Given the description of an element on the screen output the (x, y) to click on. 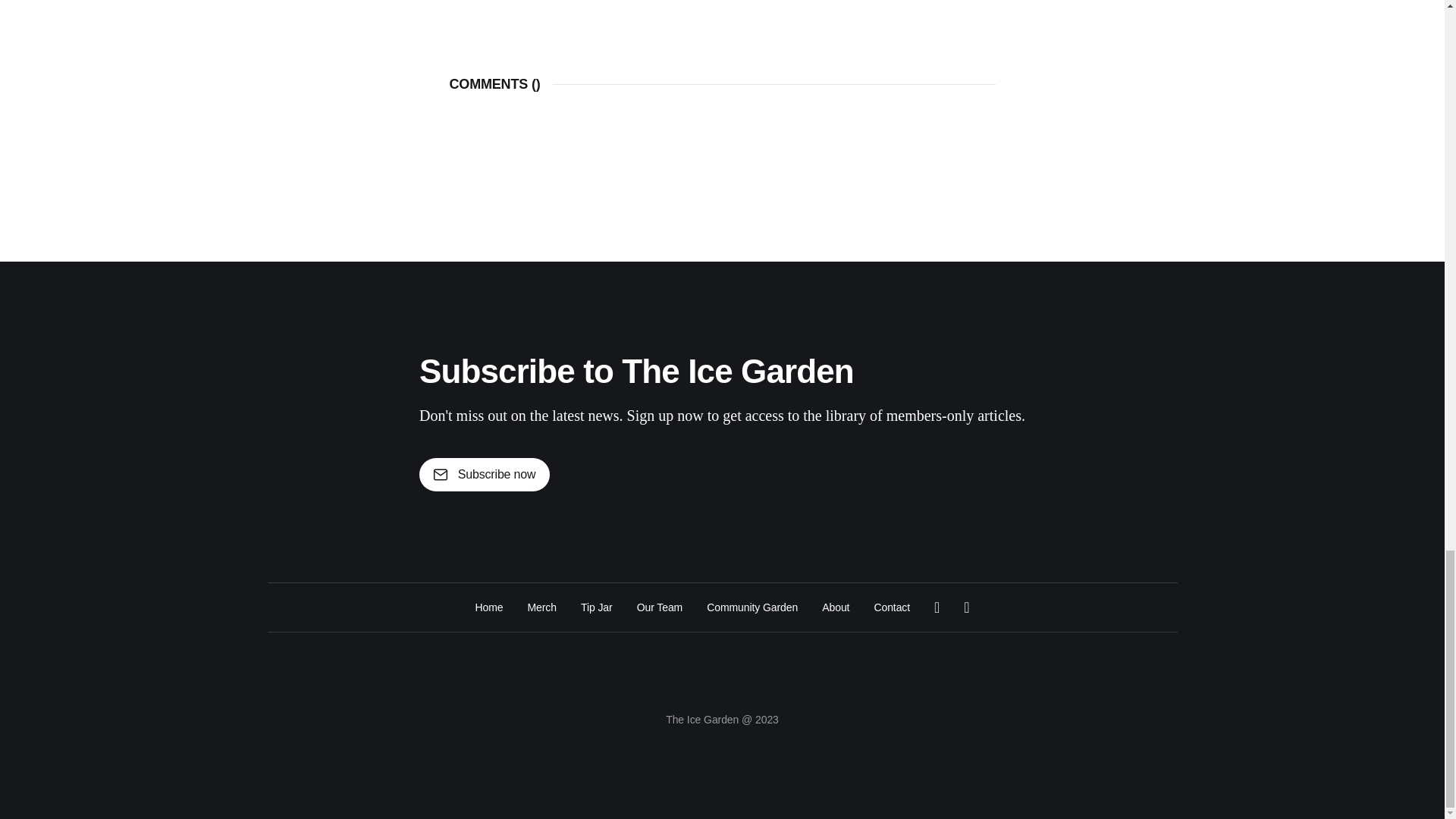
Contact (891, 606)
Subscribe now (484, 474)
Merch (541, 606)
About (835, 606)
Tip Jar (596, 606)
Home (488, 606)
Community Garden (751, 606)
Our Team (659, 606)
